Given the description of an element on the screen output the (x, y) to click on. 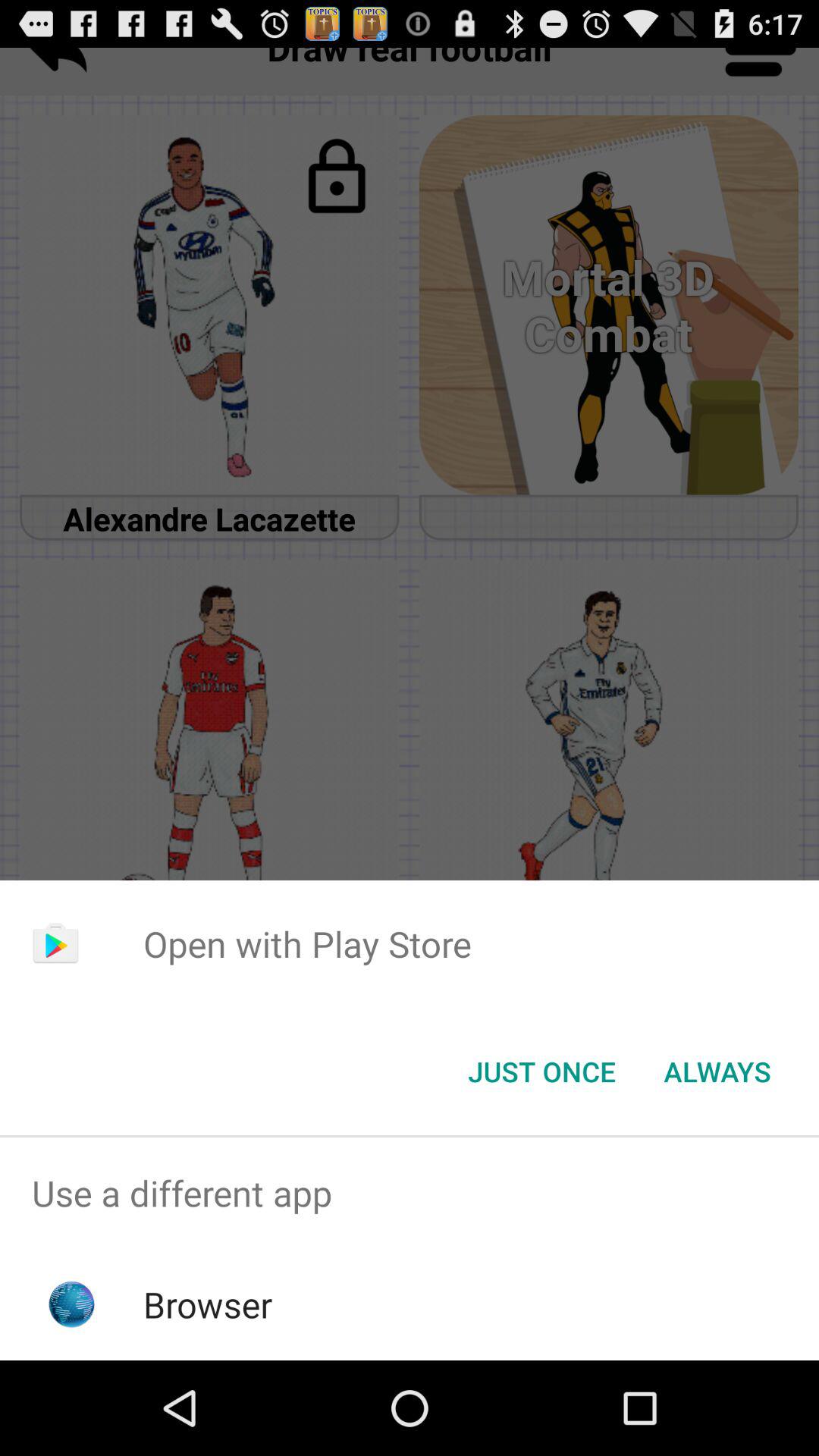
turn off icon next to just once item (717, 1071)
